Given the description of an element on the screen output the (x, y) to click on. 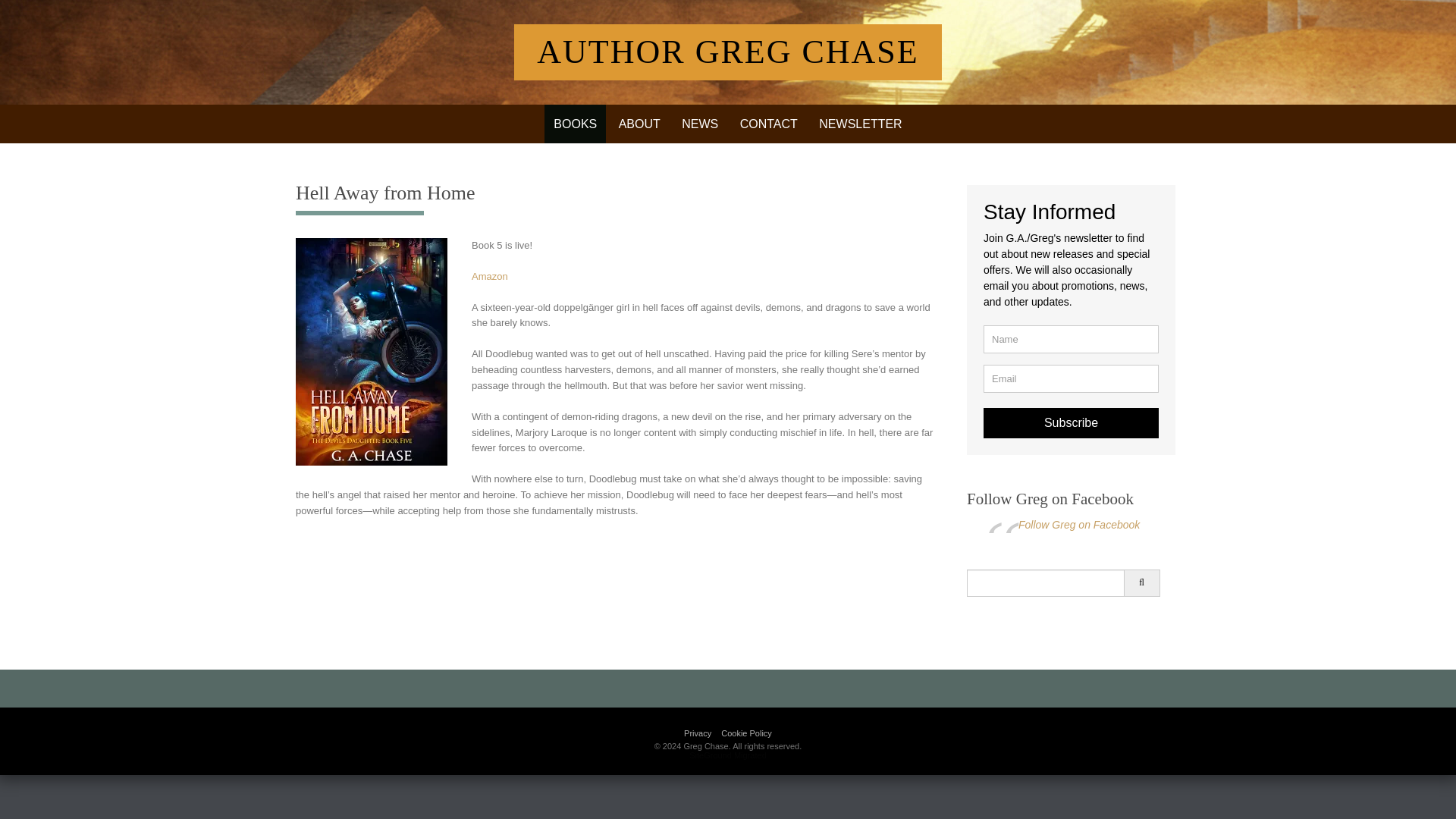
NEWS (699, 123)
Author Greg Chase  (727, 51)
Subscribe (1071, 422)
CONTACT (768, 123)
ABOUT (639, 123)
AUTHOR GREG CHASE (727, 51)
NEWSLETTER (860, 123)
BOOKS (574, 123)
Follow Greg on Facebook (1050, 498)
Amazon (489, 276)
